Given the description of an element on the screen output the (x, y) to click on. 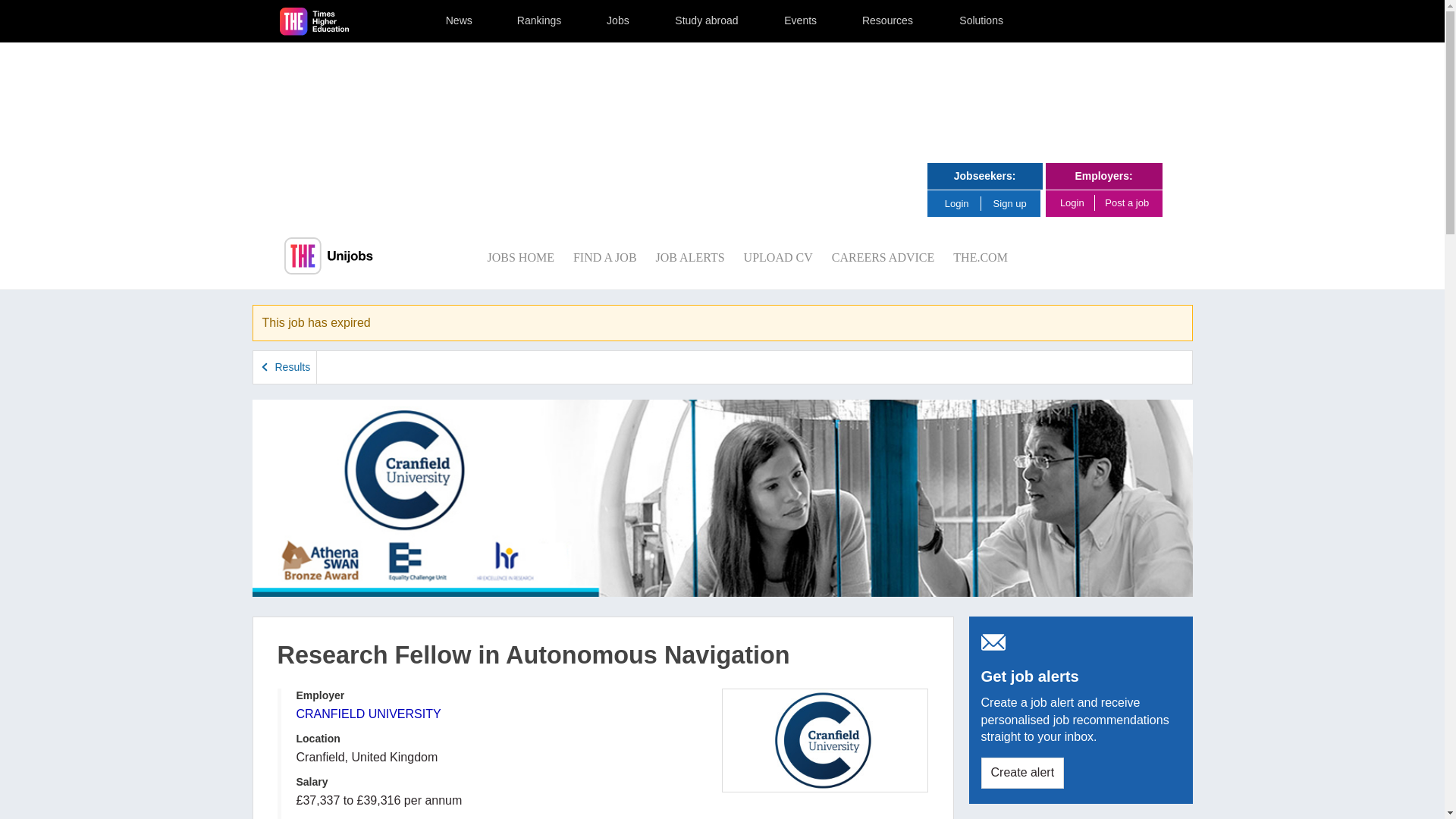
Results (285, 367)
FIND A JOB (605, 256)
JOBS HOME (519, 256)
3rd party ad content (721, 102)
UPLOAD CV (778, 256)
Study abroad (705, 21)
Login (961, 203)
CRANFIELD UNIVERSITY (368, 713)
Sign up (1010, 203)
Solutions (981, 21)
Jobs (617, 21)
THEunijobs (327, 255)
Rankings (540, 21)
News (459, 21)
CAREERS ADVICE (882, 256)
